Given the description of an element on the screen output the (x, y) to click on. 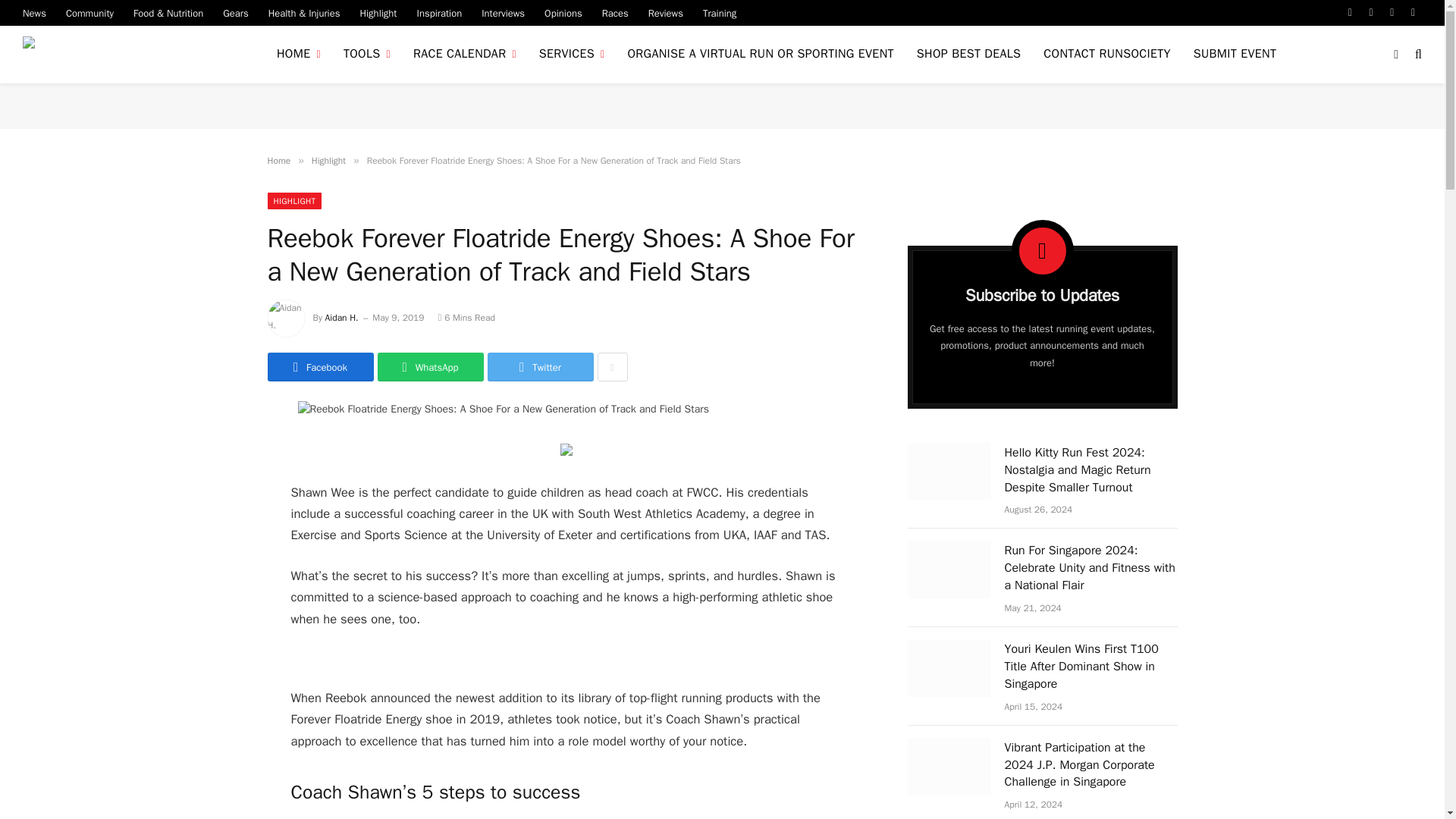
Posts by Aidan H. (341, 317)
Share on WhatsApp (430, 366)
Share on Facebook (319, 366)
Switch to Dark Design - easier on eyes. (1396, 54)
